Given the description of an element on the screen output the (x, y) to click on. 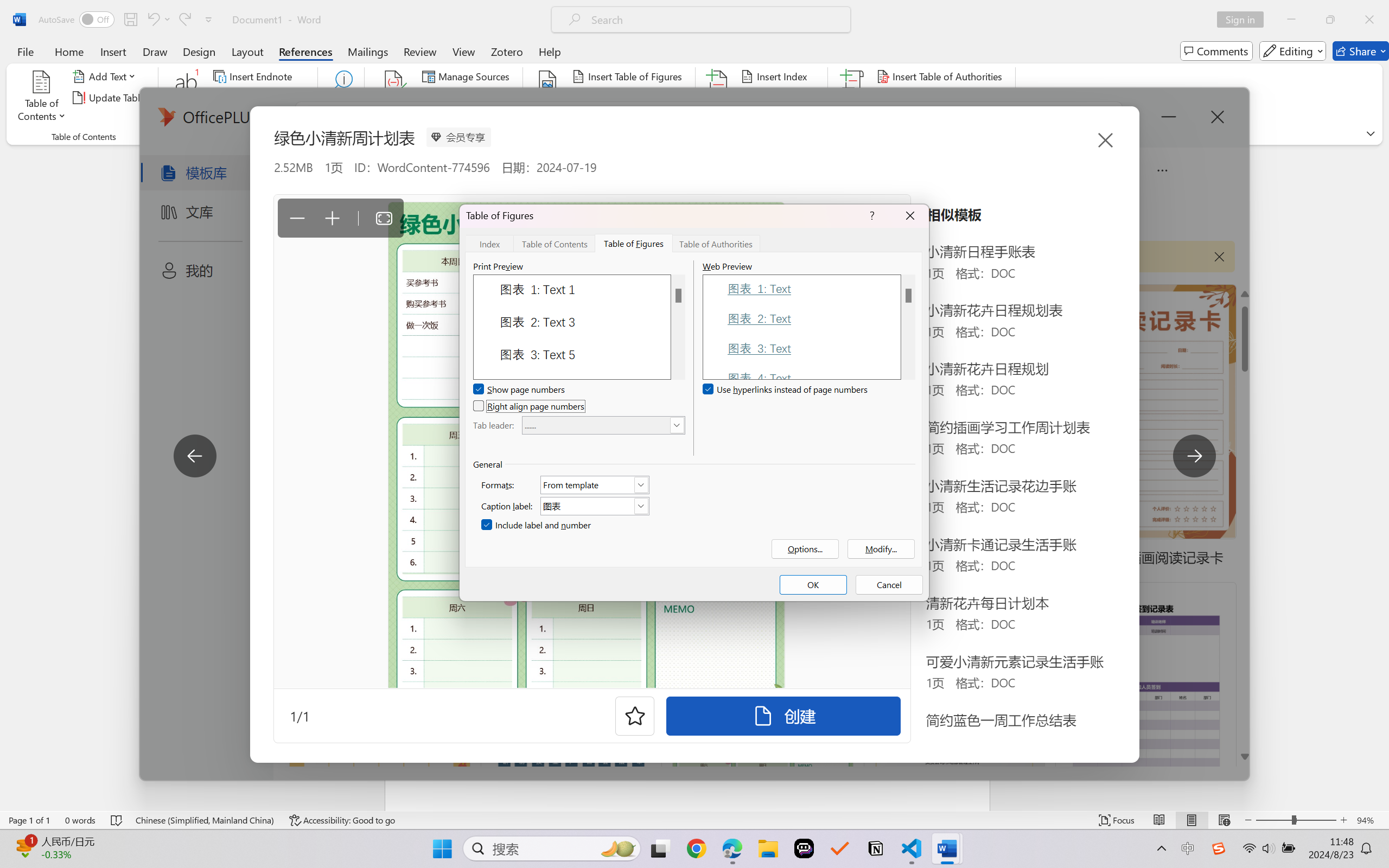
Next Footnote (260, 97)
Next Footnote (253, 97)
Print Preview (677, 327)
Insert Caption... (547, 97)
Insert Table of Authorities... (941, 75)
Insert Table of Figures... (628, 75)
